Given the description of an element on the screen output the (x, y) to click on. 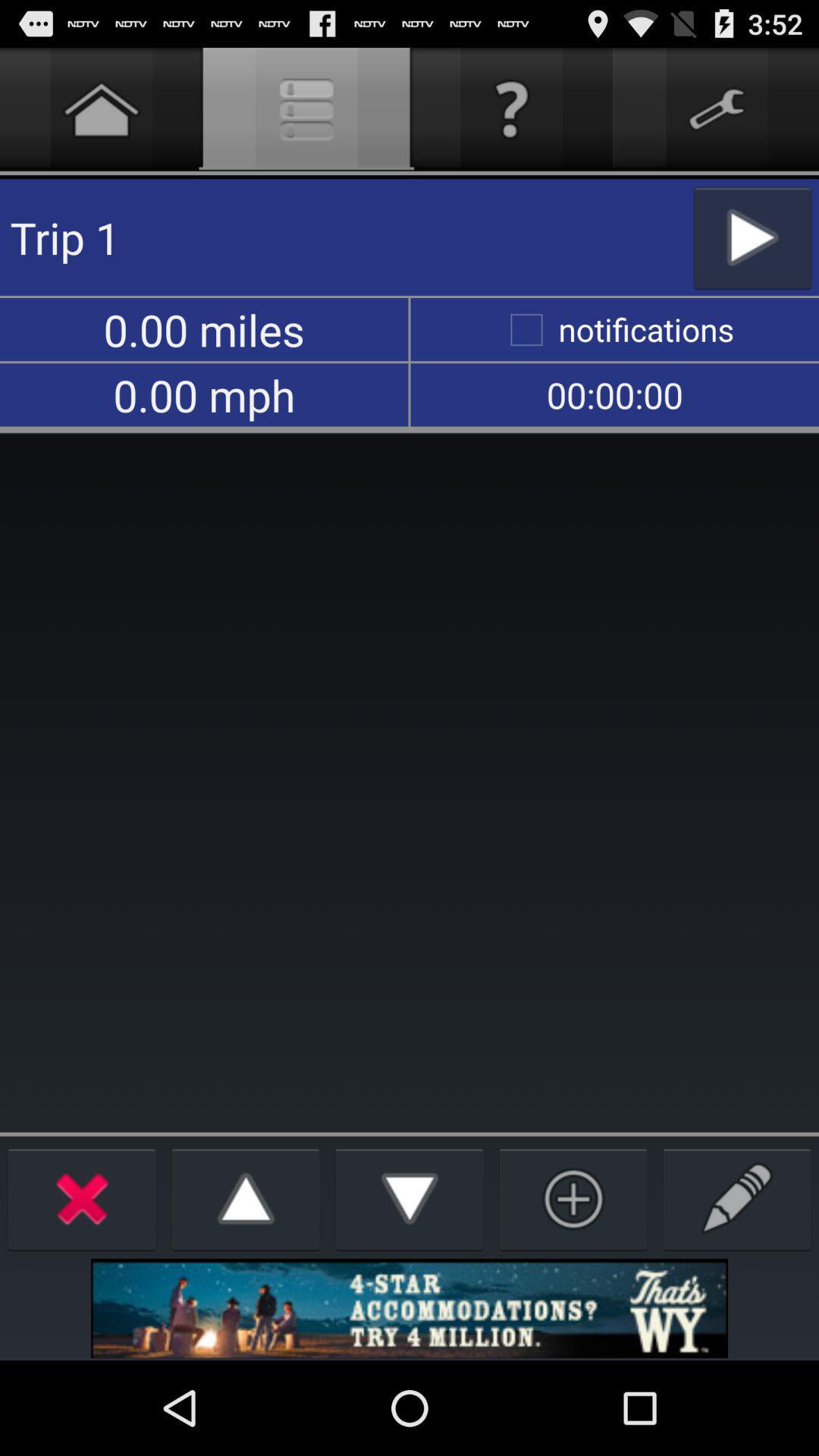
cancel (81, 1198)
